Given the description of an element on the screen output the (x, y) to click on. 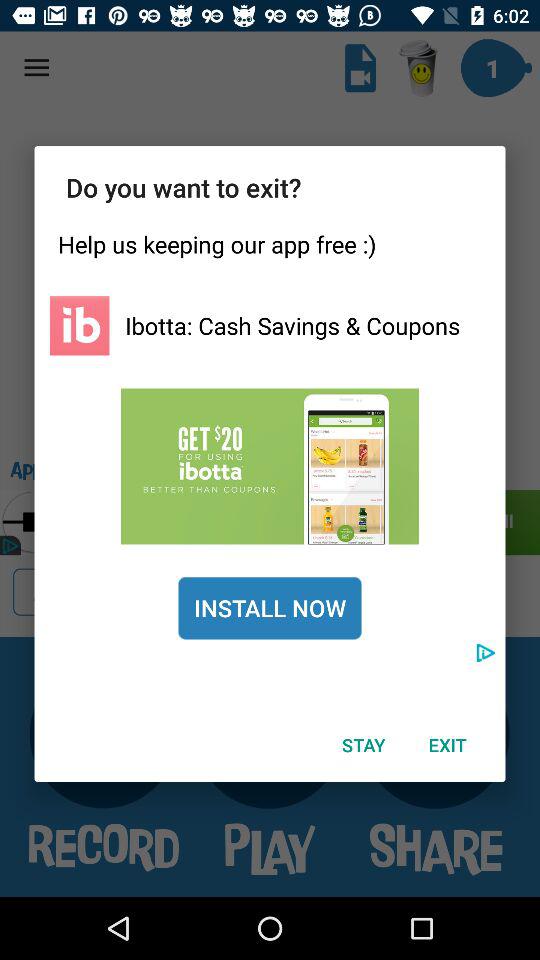
press the ibotta cash savings (292, 325)
